Given the description of an element on the screen output the (x, y) to click on. 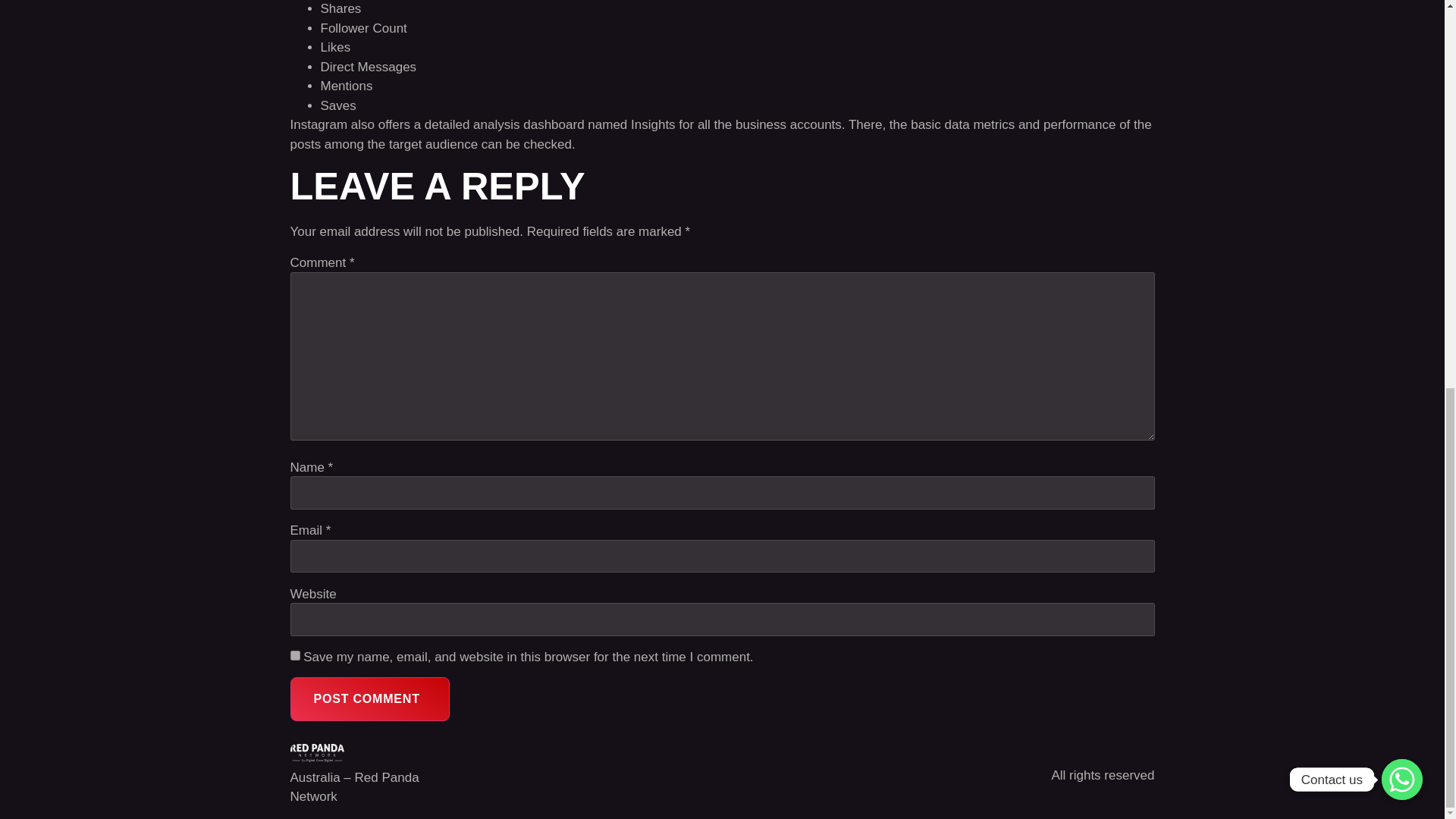
yes (294, 655)
Post Comment (368, 699)
Contact us (1401, 44)
Post Comment (368, 699)
